Given the description of an element on the screen output the (x, y) to click on. 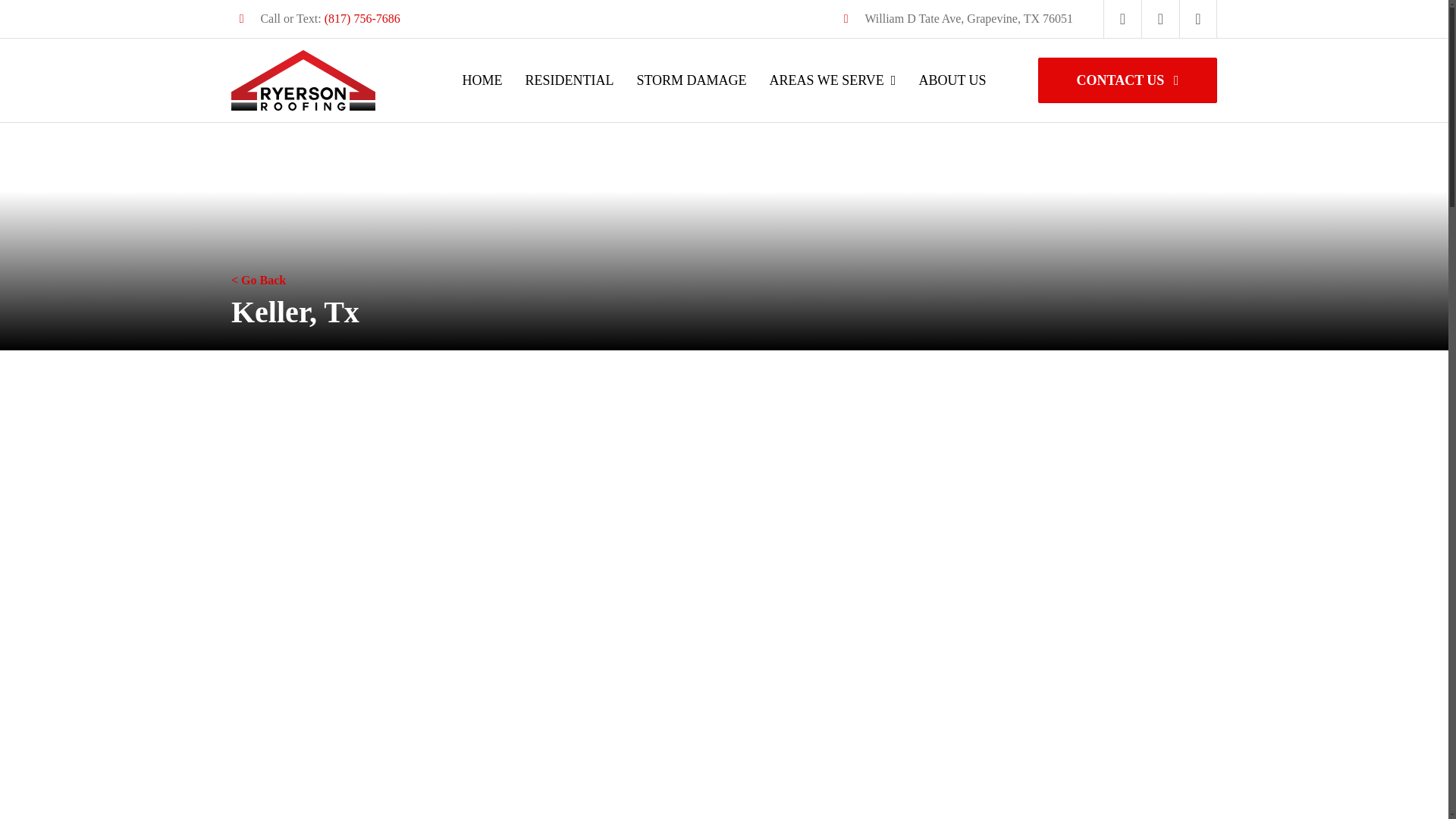
Submit (1058, 777)
RESIDENTIAL (568, 80)
STORM DAMAGE (690, 80)
CONTACT US (1127, 80)
AREAS WE SERVE (833, 80)
